Given the description of an element on the screen output the (x, y) to click on. 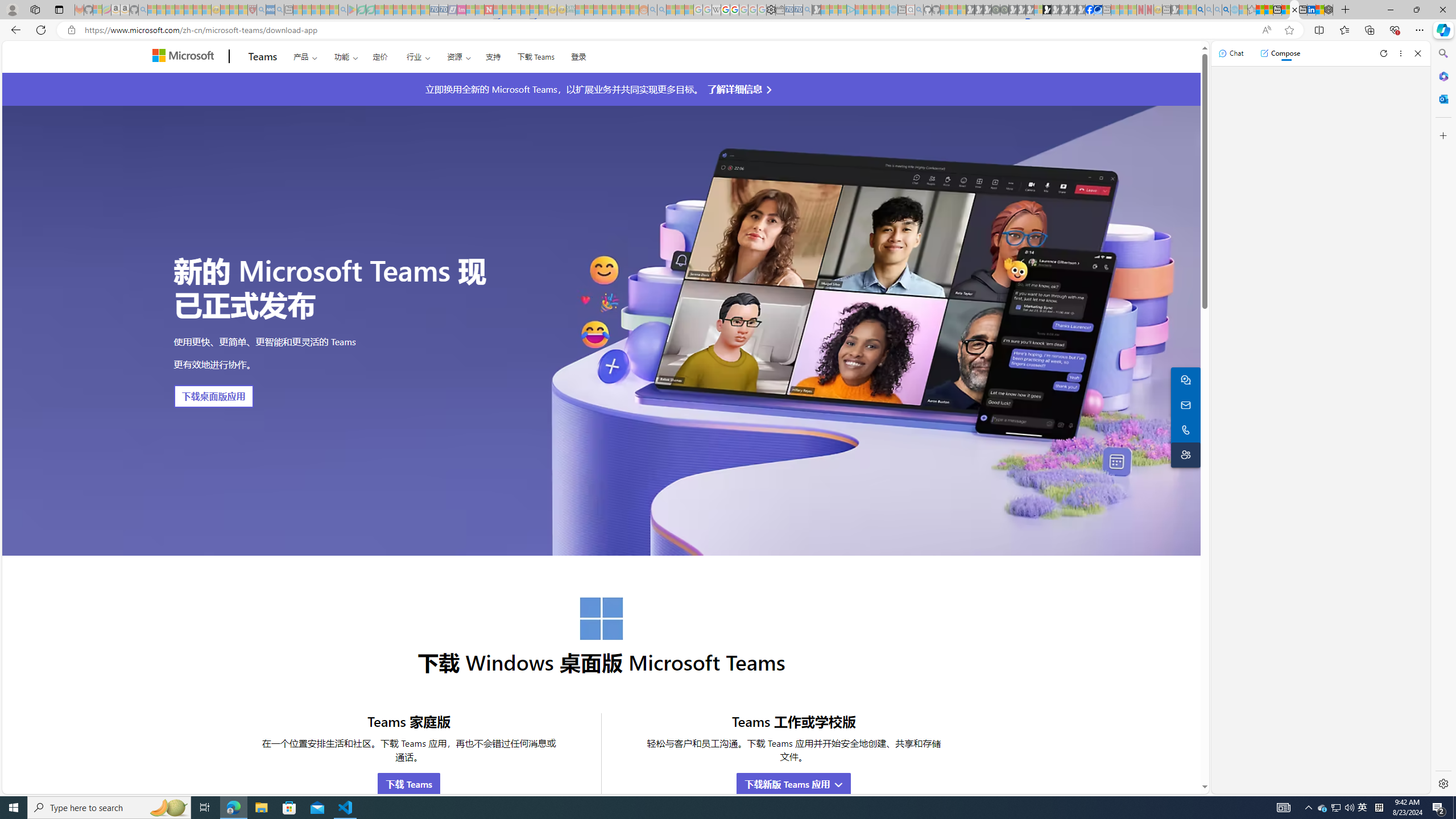
Privacy Help Center - Policies Help (725, 9)
MSN - Sleeping (1174, 9)
